Given the description of an element on the screen output the (x, y) to click on. 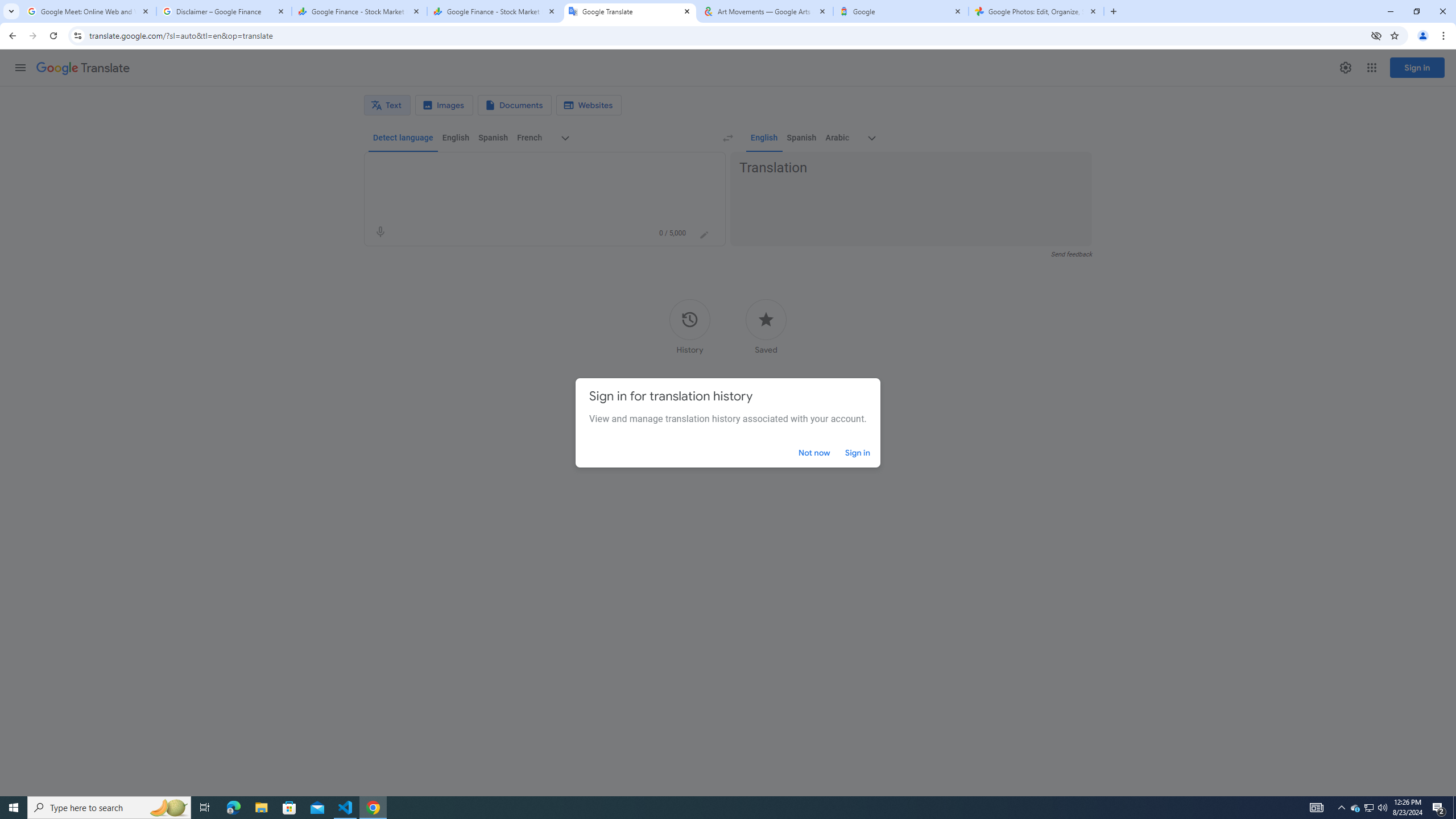
Not now (813, 452)
